Given the description of an element on the screen output the (x, y) to click on. 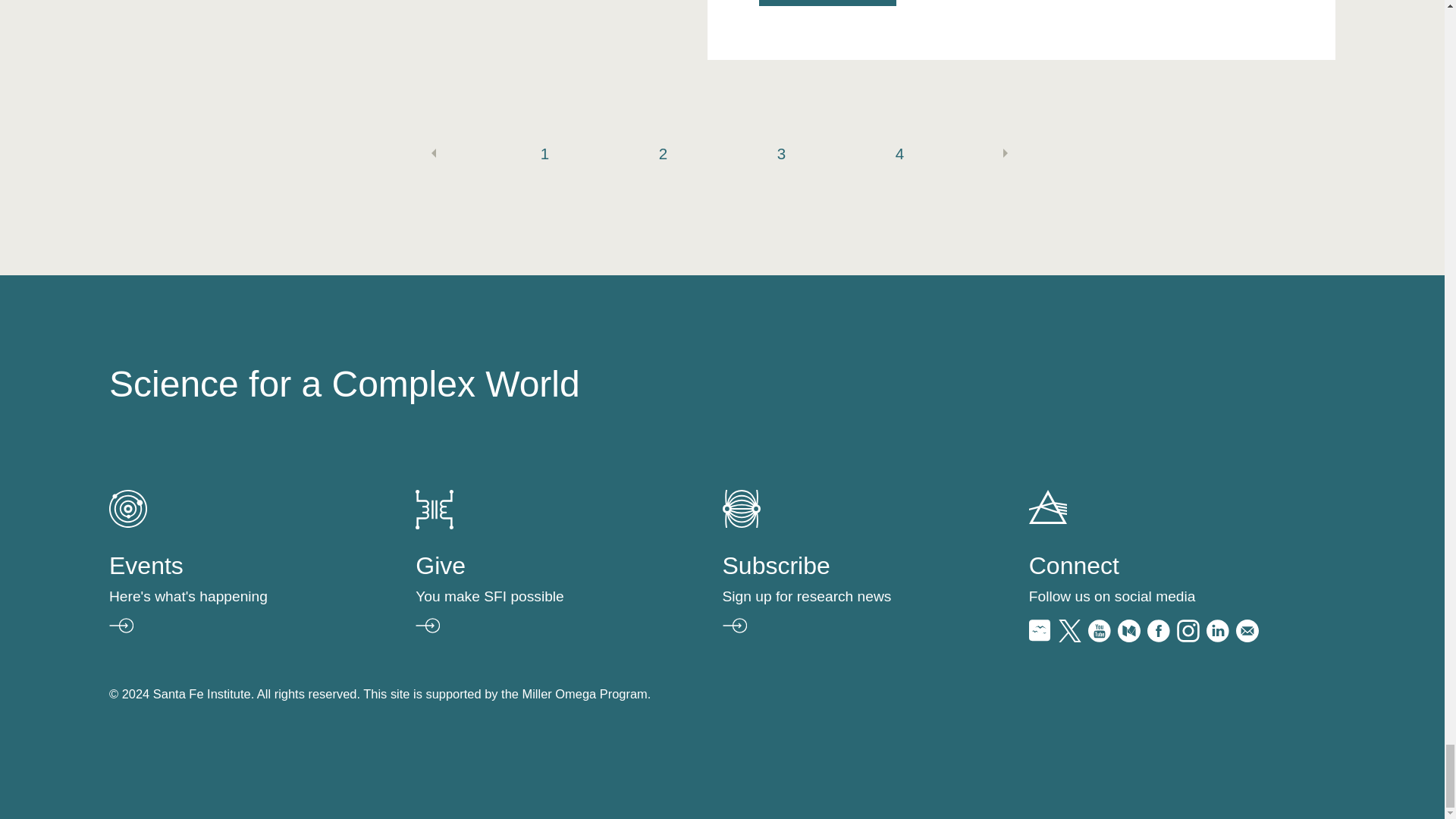
linkedin (1217, 636)
Give (532, 594)
instagram (1187, 636)
contact (1247, 636)
youtube (1098, 636)
Give (433, 524)
medium (1129, 636)
facebook (1158, 636)
Bluesky (1040, 636)
X (1069, 636)
